Given the description of an element on the screen output the (x, y) to click on. 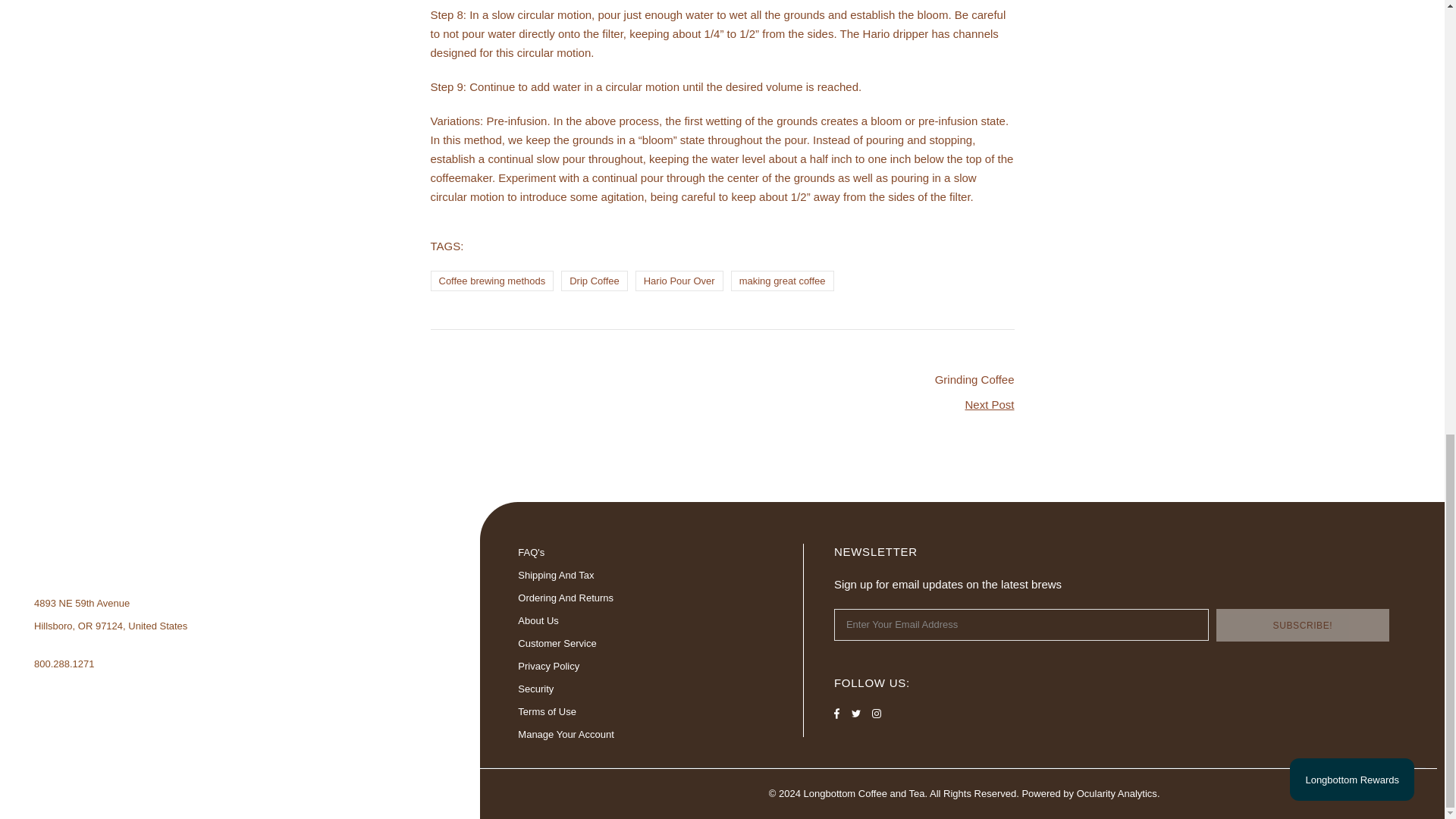
SUBSCRIBE! (1302, 625)
